Given the description of an element on the screen output the (x, y) to click on. 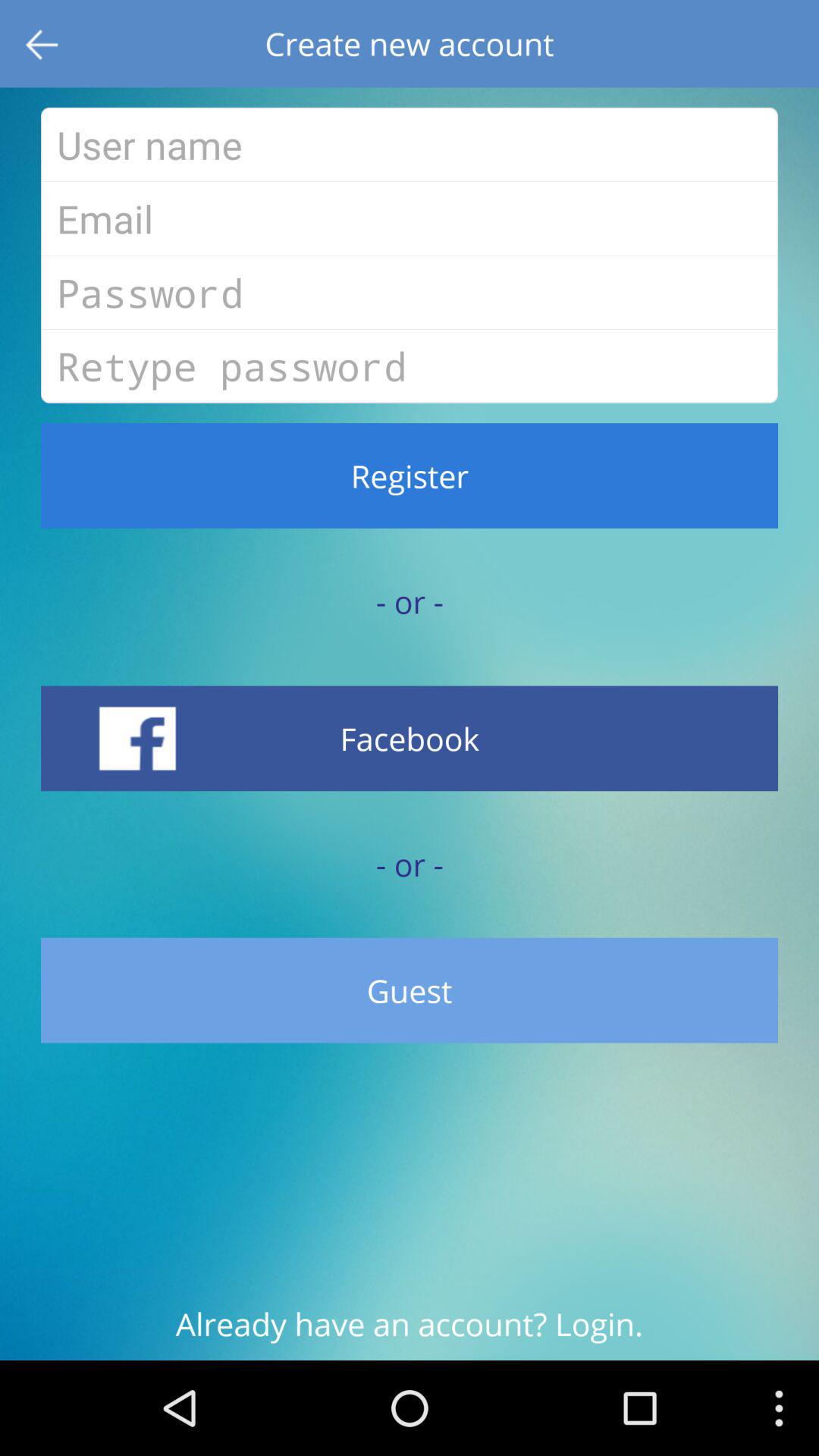
turn on the item below guest (409, 1331)
